Given the description of an element on the screen output the (x, y) to click on. 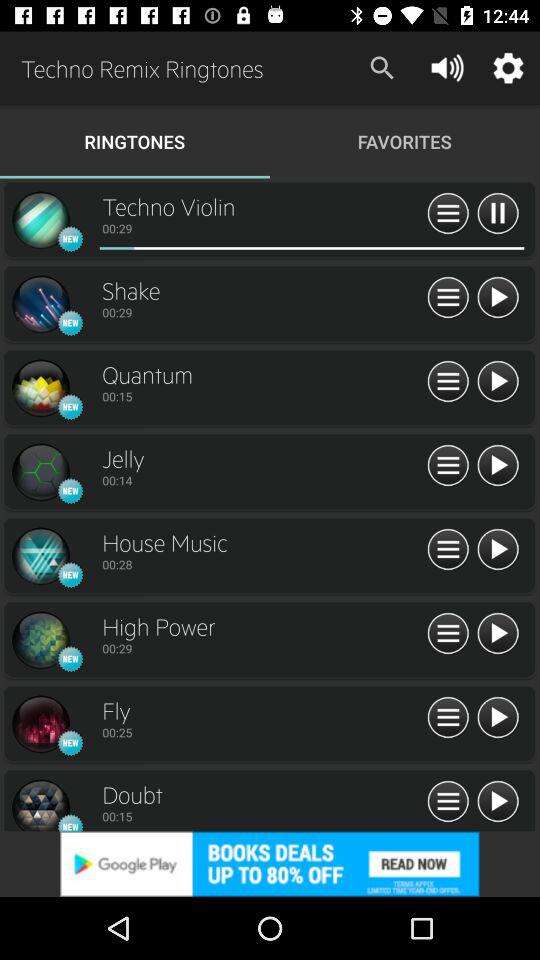
click arrow button (497, 465)
